Given the description of an element on the screen output the (x, y) to click on. 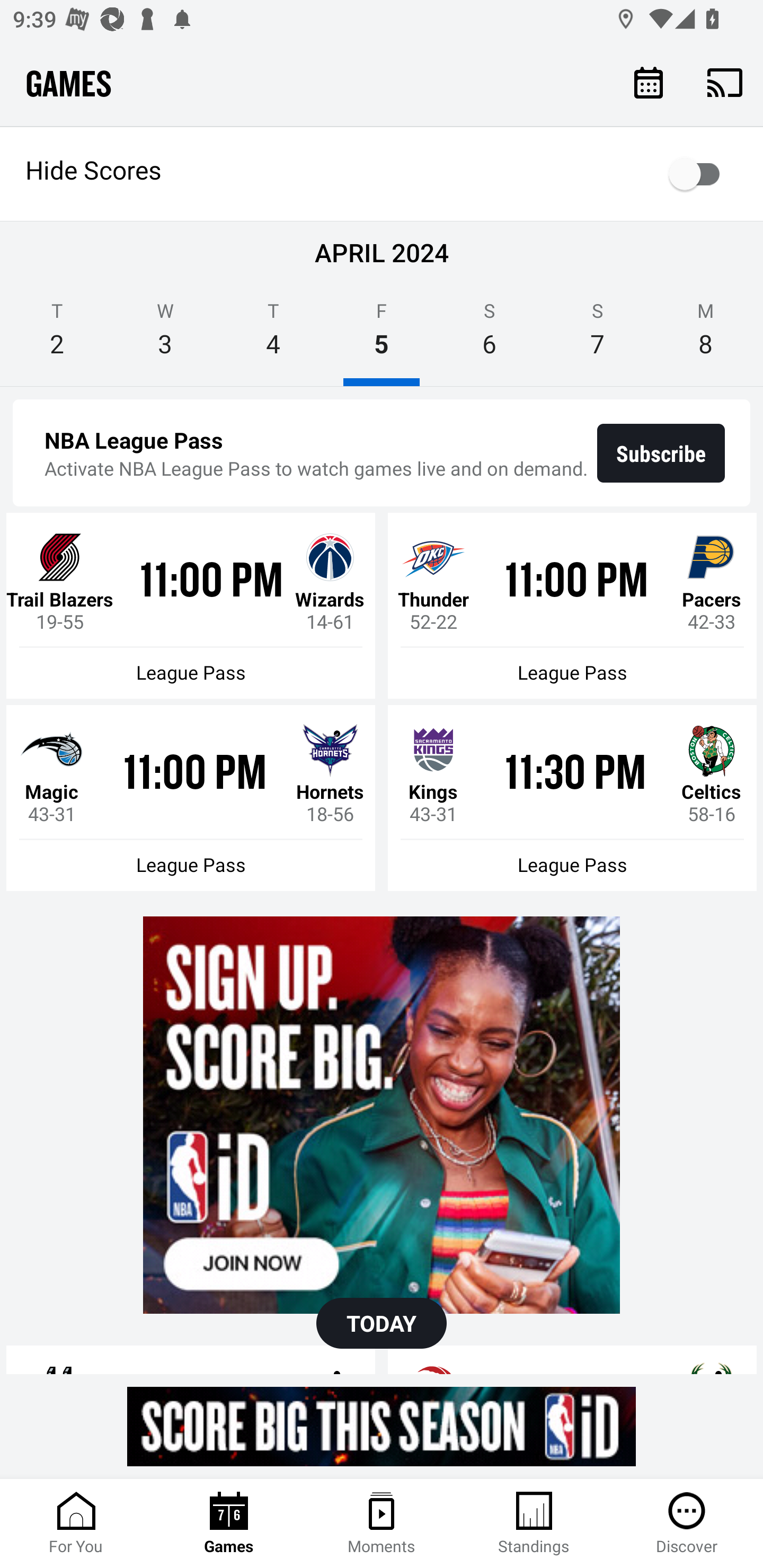
Cast. Disconnected (724, 82)
Calendar (648, 81)
Hide Scores (381, 174)
T 2 (57, 334)
W 3 (165, 334)
T 4 (273, 334)
F 5 (381, 334)
S 6 (489, 334)
S 7 (597, 334)
M 8 (705, 334)
Subscribe (660, 452)
Thunder 52-22 11:00 PM Pacers 42-33 League Pass (571, 605)
Magic 43-31 11:00 PM Hornets 18-56 League Pass (190, 797)
Kings 43-31 11:30 PM Celtics 58-16 League Pass (571, 797)
g5nqqygr7owph (381, 1114)
TODAY (381, 1323)
g5nqqygr7owph (381, 1426)
For You (76, 1523)
Moments (381, 1523)
Standings (533, 1523)
Discover (686, 1523)
